Given the description of an element on the screen output the (x, y) to click on. 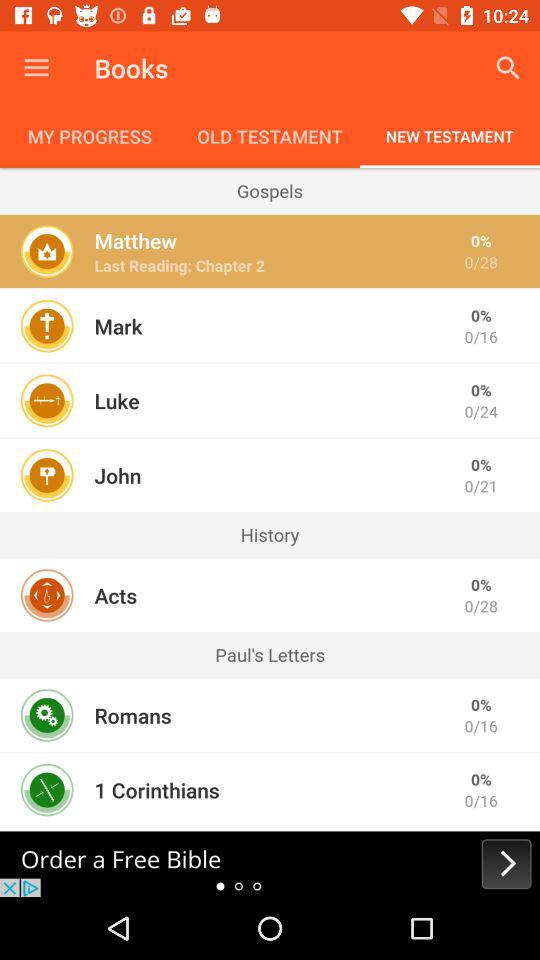
tap the icon next to the 0/28 item (115, 595)
